Given the description of an element on the screen output the (x, y) to click on. 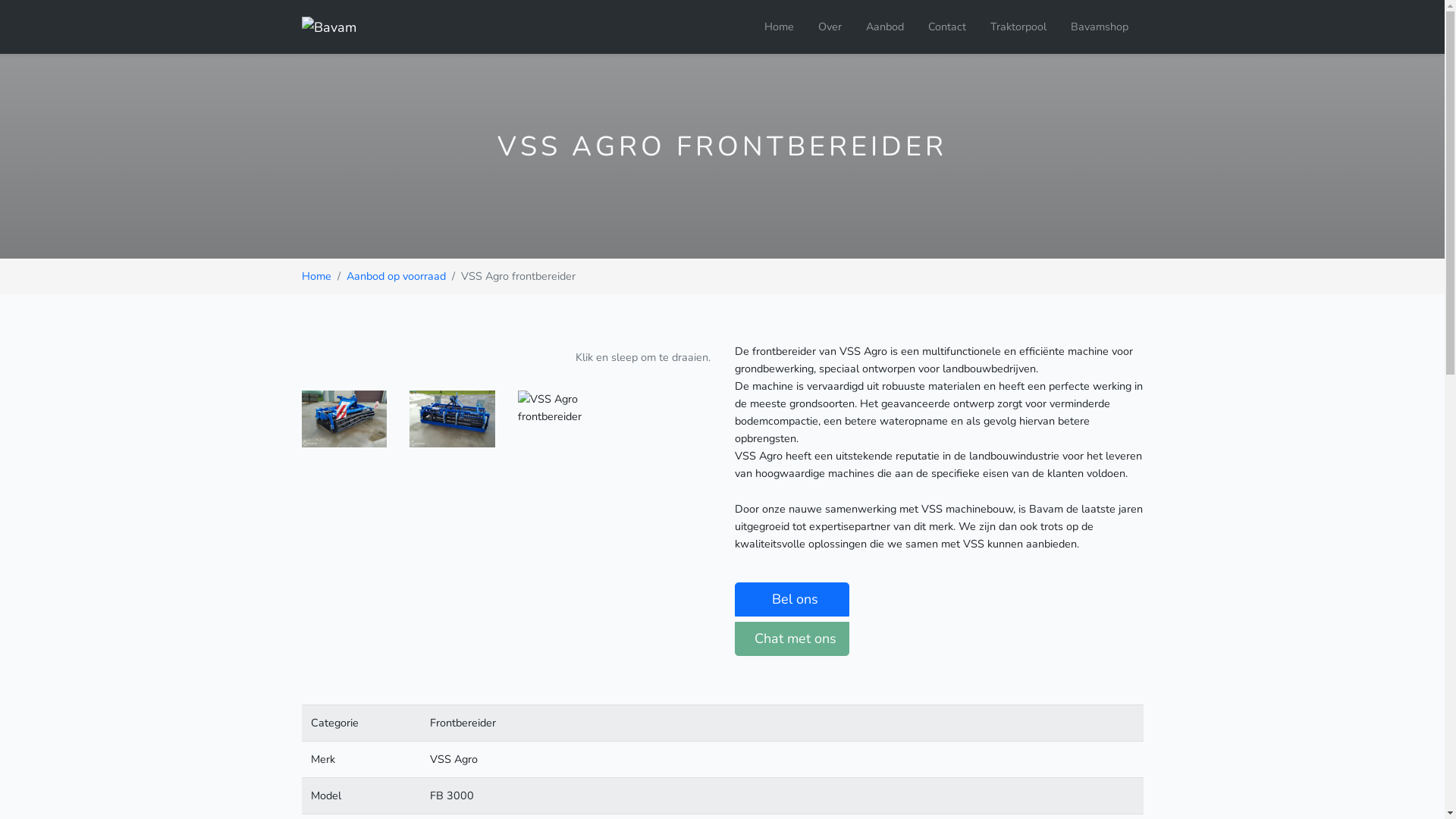
Bavamshop Element type: text (1100, 26)
Over Element type: text (829, 26)
Contact Element type: text (947, 26)
Home Element type: text (779, 26)
 Bel ons Element type: text (791, 599)
Traktorpool Element type: text (1018, 26)
Aanbod op voorraad Element type: text (395, 275)
Home Element type: text (316, 275)
 Chat met ons Element type: text (791, 638)
Aanbod Element type: text (884, 26)
